Given the description of an element on the screen output the (x, y) to click on. 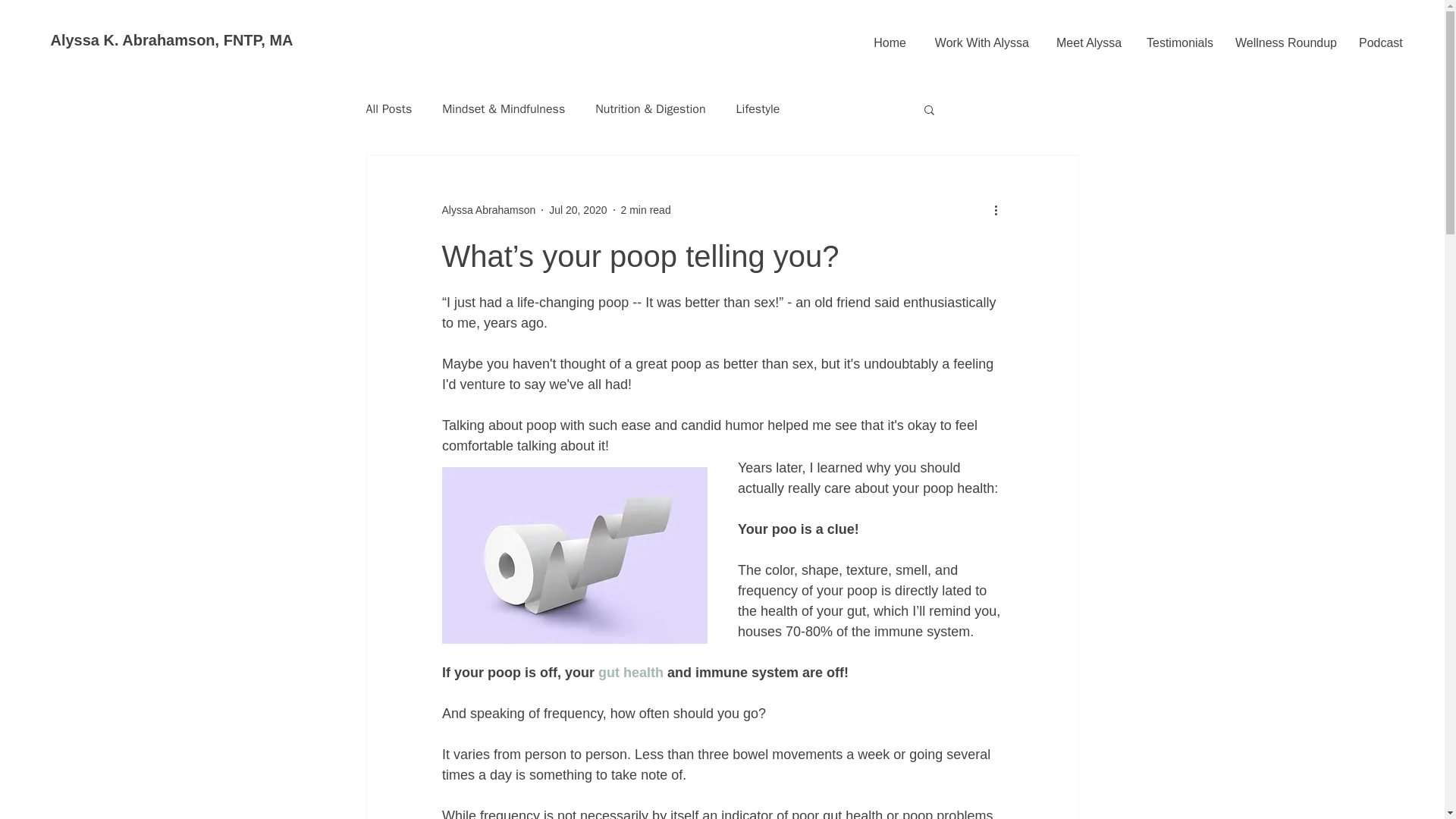
Alyssa Abrahamson (488, 209)
Home (889, 36)
2 min read (646, 209)
Wellness Roundup (1283, 36)
gut health (629, 672)
Meet Alyssa (1087, 36)
Lifestyle (758, 109)
Work With Alyssa (981, 36)
All Posts (388, 109)
Alyssa K. Abrahamson, FNTP, MA (171, 39)
Podcast (1379, 36)
Testimonials (1176, 36)
Jul 20, 2020 (577, 209)
